Given the description of an element on the screen output the (x, y) to click on. 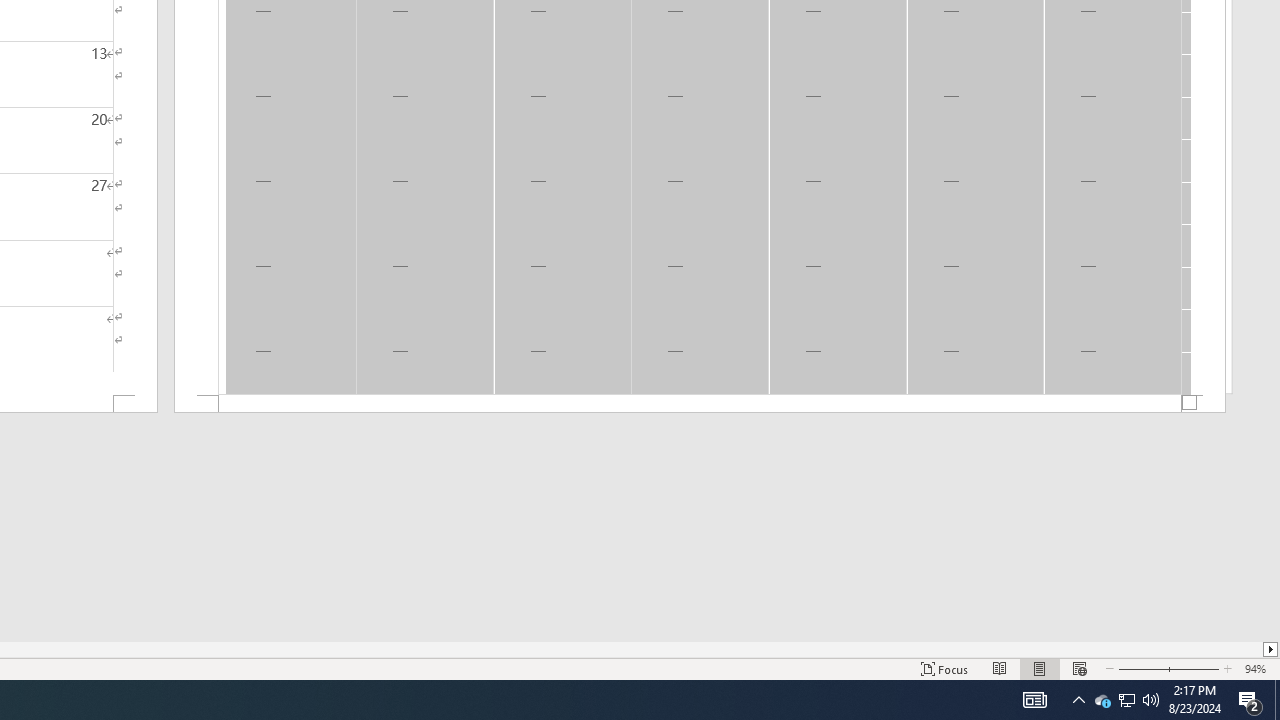
Column right (1271, 649)
Footer -Section 1- (700, 404)
